Given the description of an element on the screen output the (x, y) to click on. 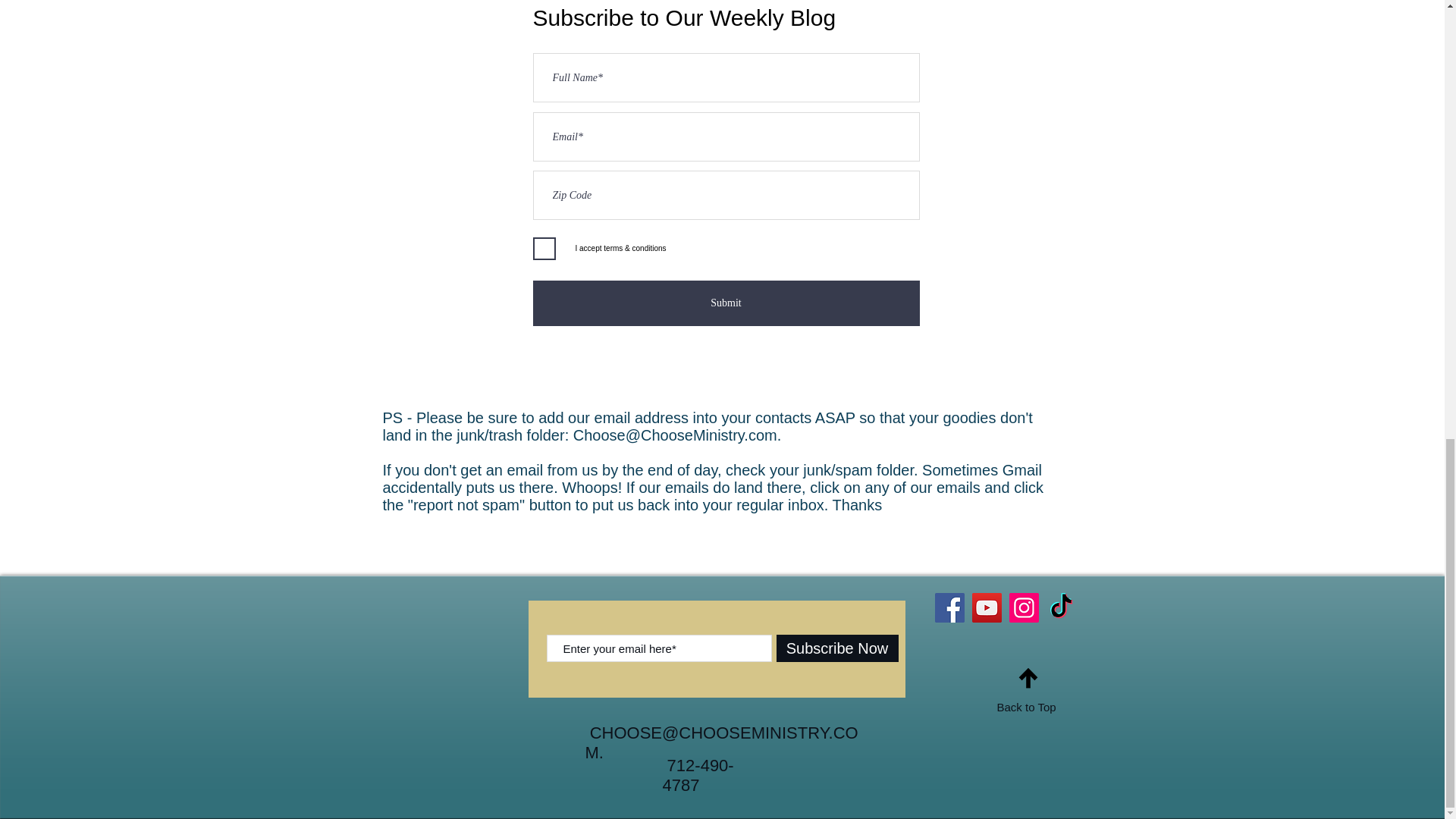
Back to Top (1025, 707)
Submit (725, 302)
Subscribe Now (837, 647)
